Given the description of an element on the screen output the (x, y) to click on. 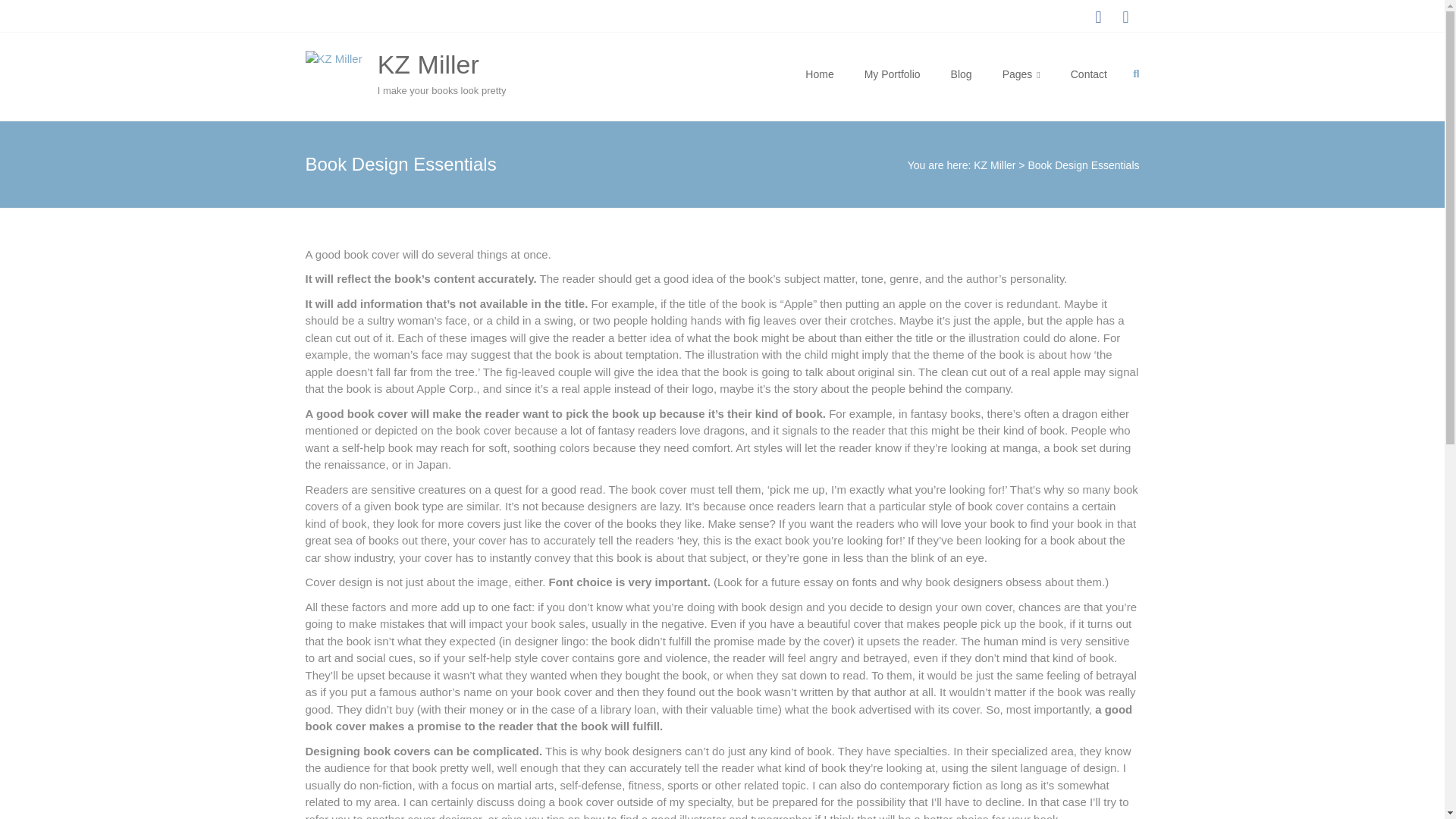
KZ Miller (994, 164)
KZ Miller (428, 63)
Go to KZ Miller. (994, 164)
My Portfolio (892, 73)
KZ Miller (428, 63)
